Given the description of an element on the screen output the (x, y) to click on. 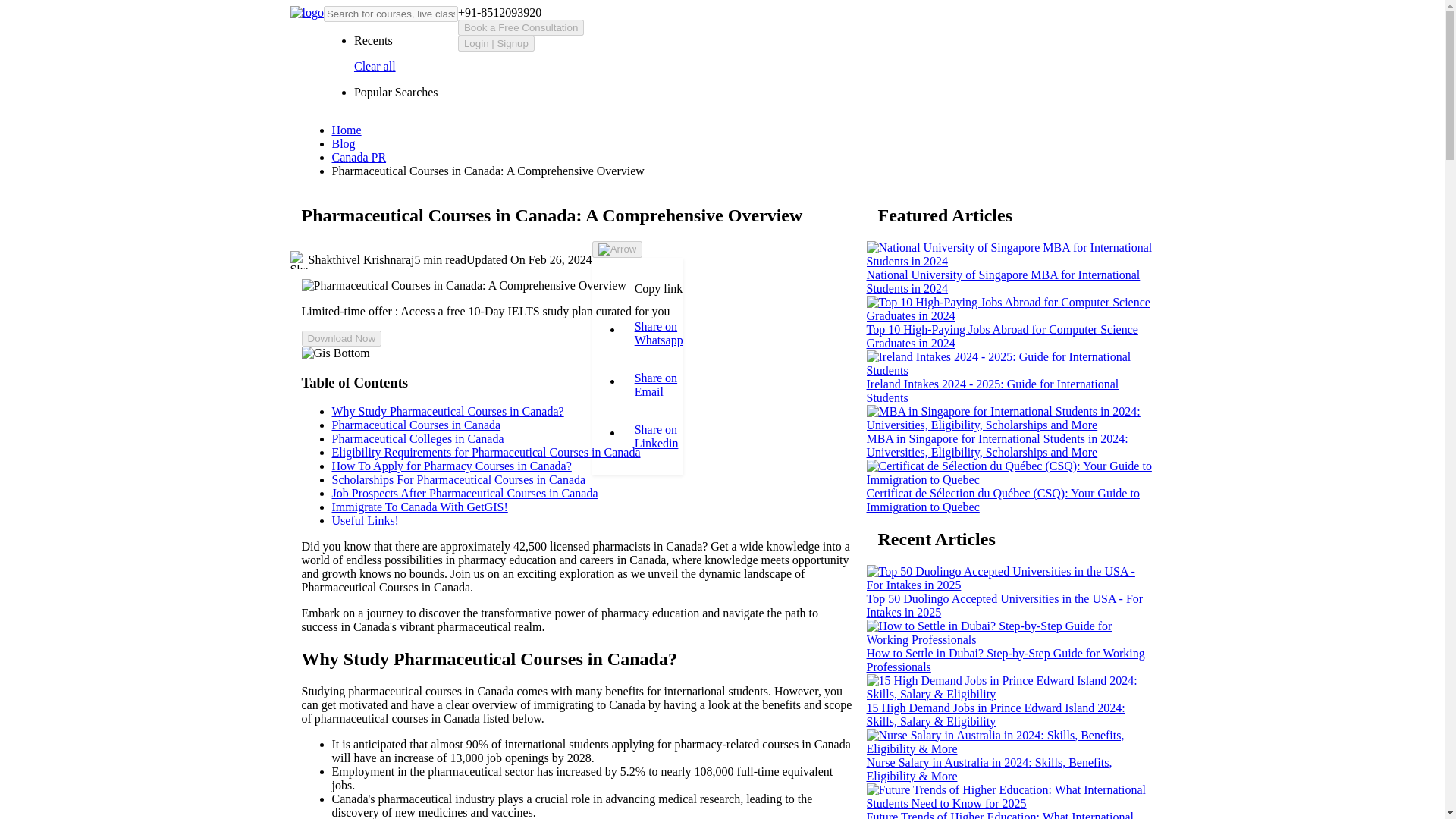
Job Prospects After Pharmaceutical Courses in Canada (464, 492)
Why Study Pharmaceutical Courses in Canada? (578, 659)
How To Apply for Pharmacy Courses in Canada? (451, 465)
Pharmaceutical Courses in Canada (415, 424)
Why Study Pharmaceutical Courses in Canada? (447, 410)
Download Now (341, 338)
Why Study Pharmaceutical Courses in Canada? (447, 410)
Book a Free Consultation (520, 26)
Job Prospects After Pharmaceutical Courses in Canada (464, 492)
Home (346, 129)
